Given the description of an element on the screen output the (x, y) to click on. 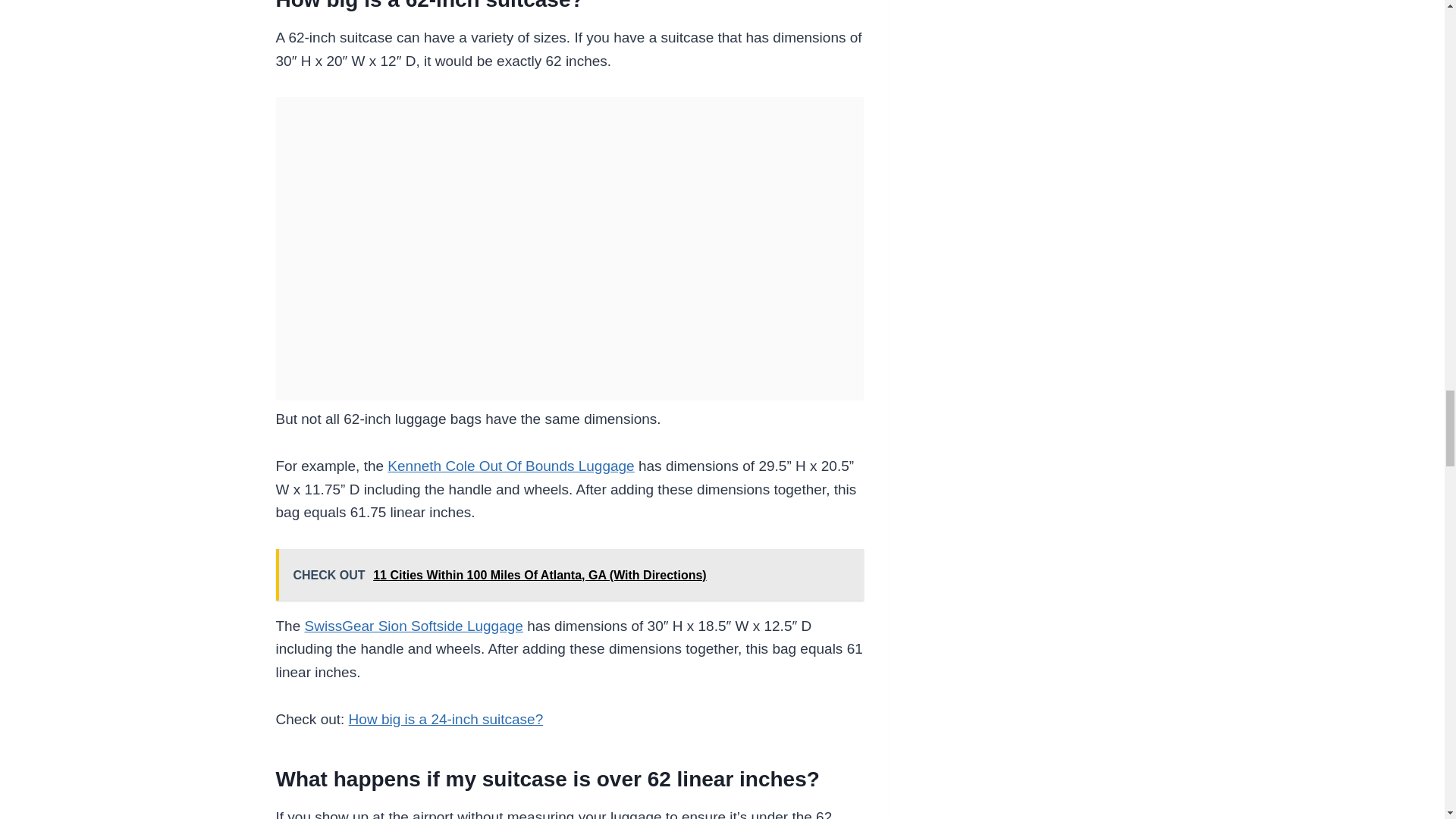
Kenneth Cole Out Of Bounds Luggage (510, 465)
SwissGear Sion Softside Luggage (413, 625)
How big is a 24-inch suitcase? (446, 719)
